Given the description of an element on the screen output the (x, y) to click on. 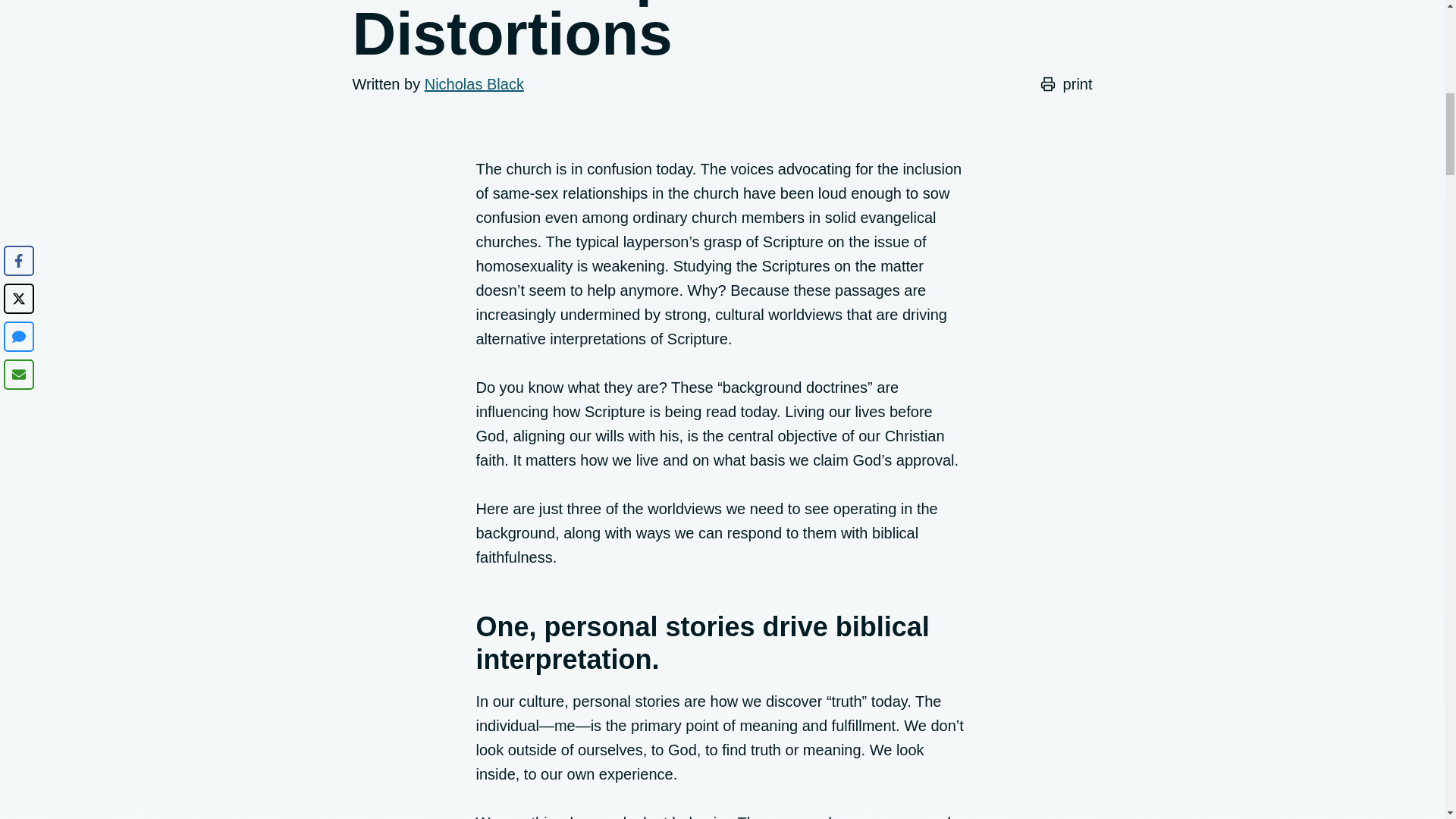
Nicholas Black (474, 84)
